Given the description of an element on the screen output the (x, y) to click on. 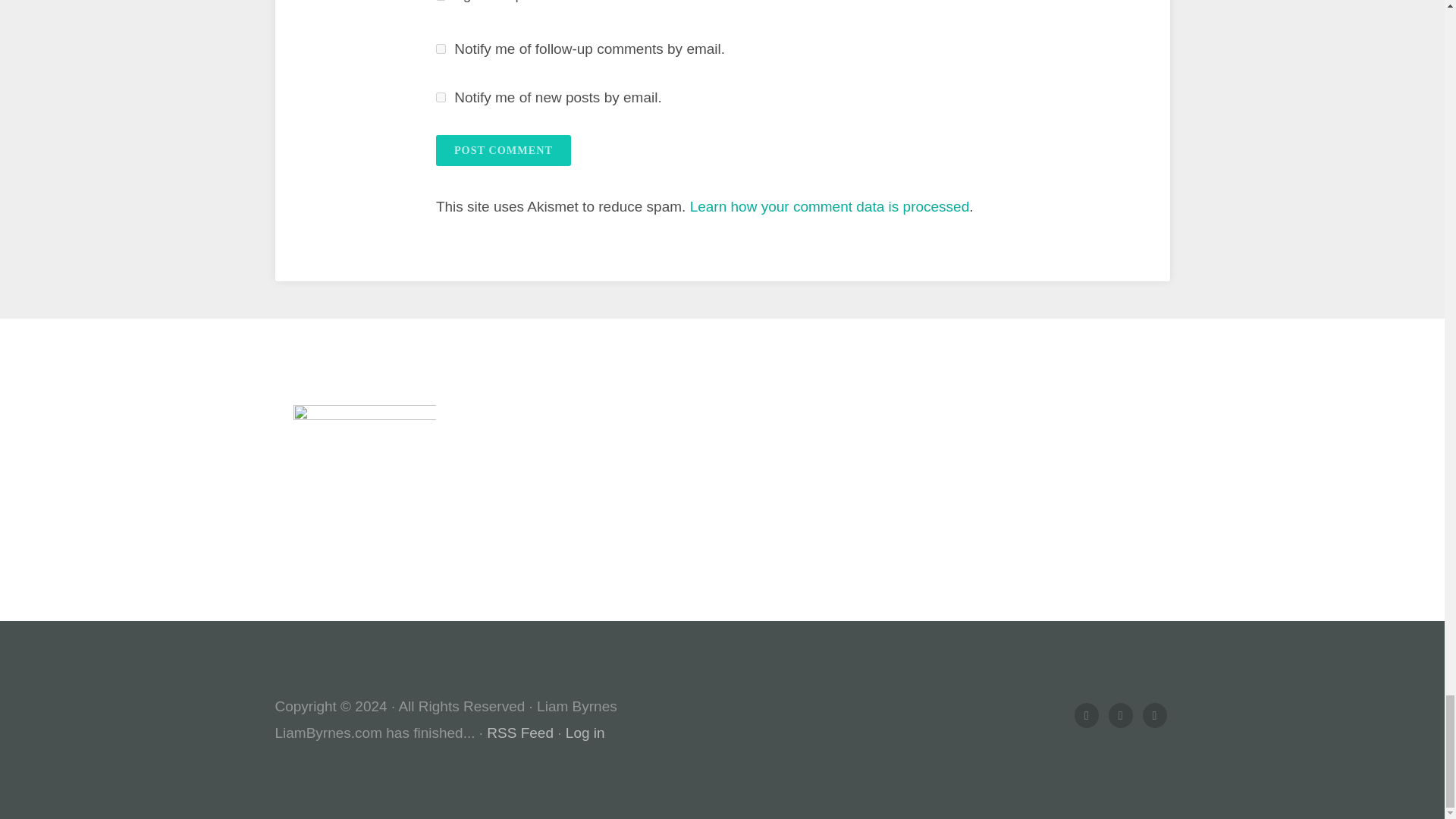
Post Comment (502, 150)
subscribe (440, 49)
Learn how your comment data is processed (829, 206)
subscribe (440, 97)
RSS Feed (519, 732)
Log in (585, 732)
Post Comment (502, 150)
